Given the description of an element on the screen output the (x, y) to click on. 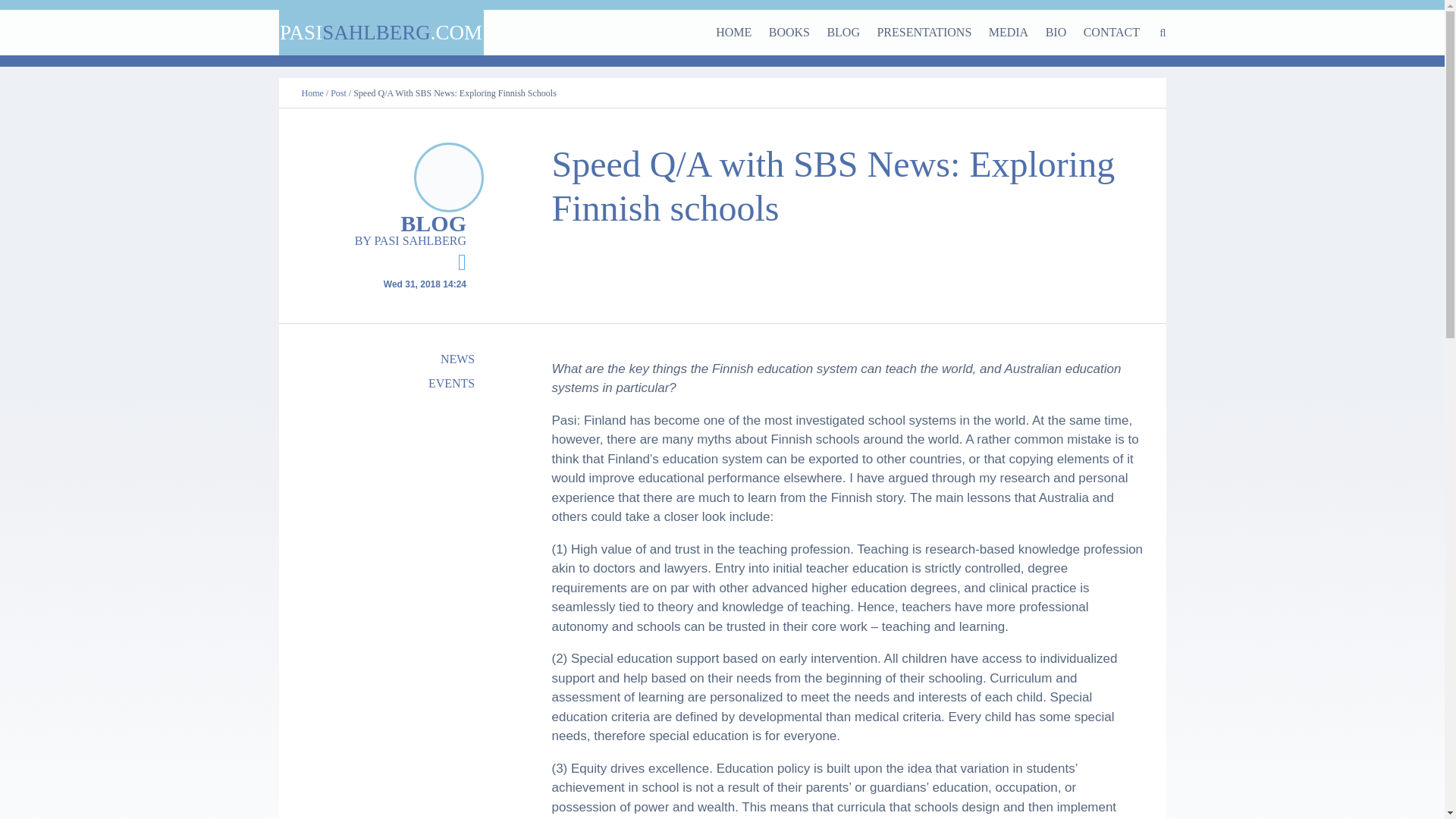
EVENTS (395, 383)
BOOKS (788, 32)
PRESENTATIONS (923, 32)
Home (312, 92)
Post (338, 92)
CONTACT (1111, 32)
NEWS (395, 358)
PASISAHLBERG.COM (381, 32)
